Given the description of an element on the screen output the (x, y) to click on. 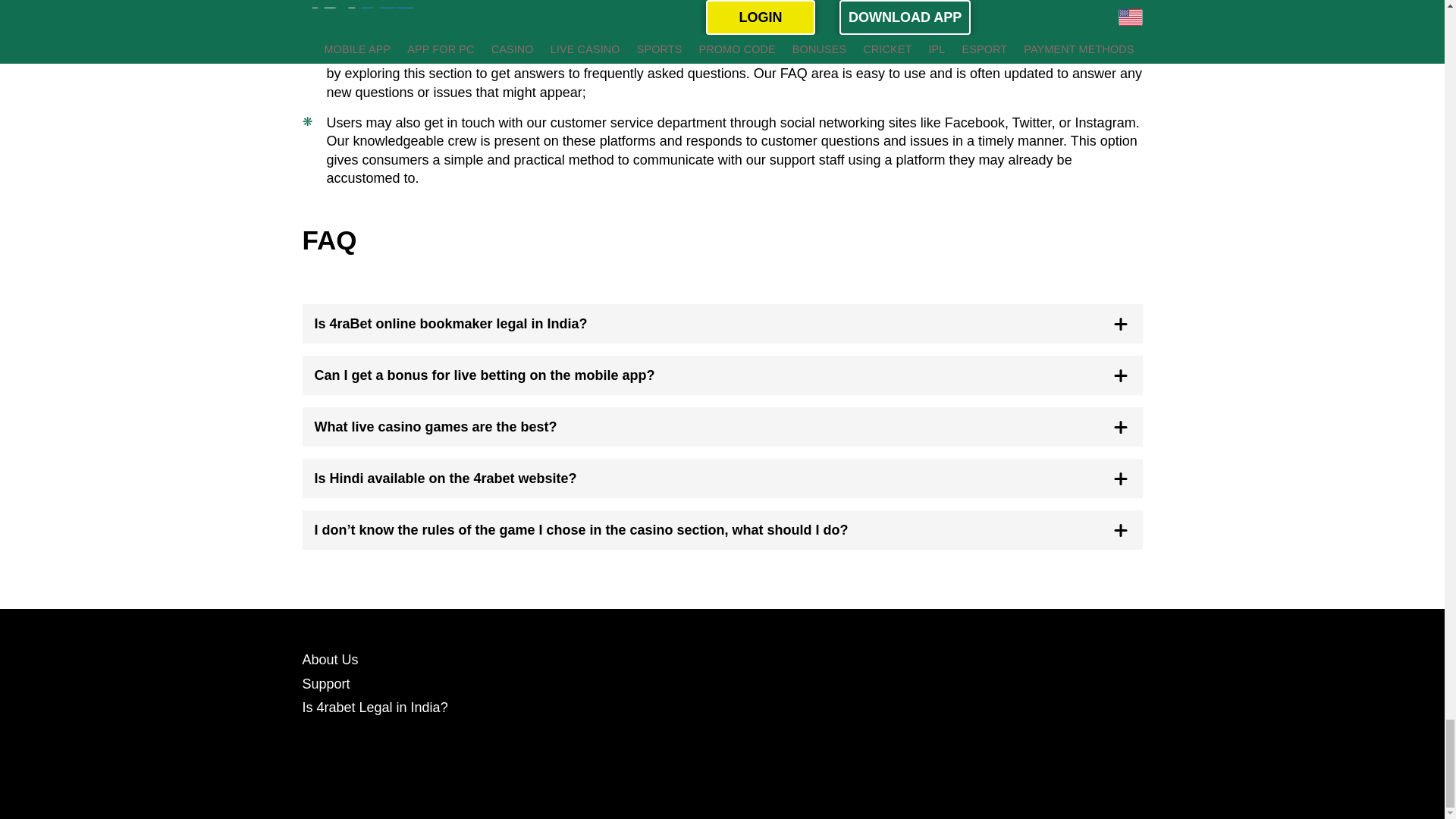
About Us (329, 659)
Is 4rabet Legal in India? (373, 707)
Support (325, 683)
